Given the description of an element on the screen output the (x, y) to click on. 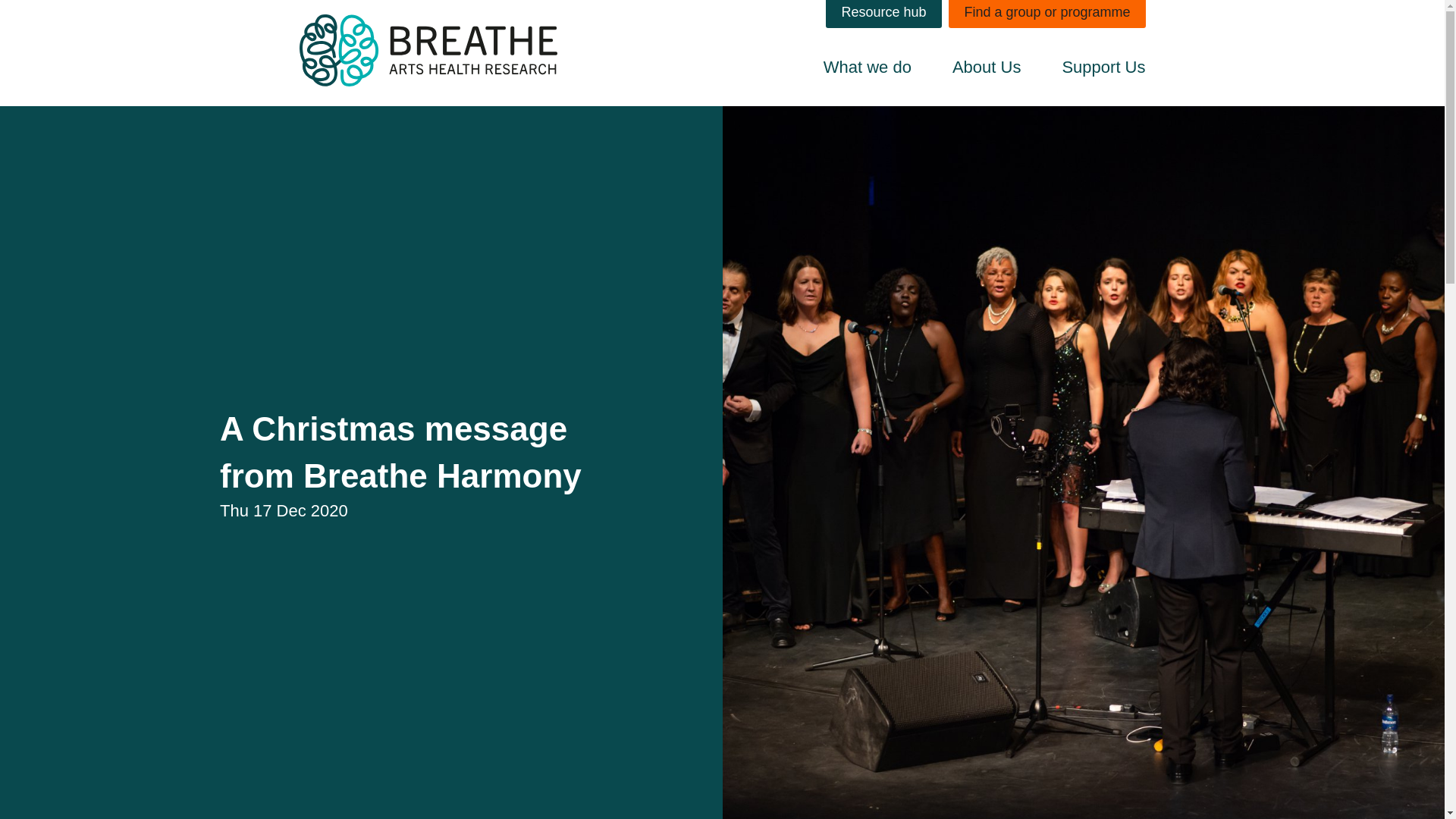
About Us (987, 71)
Resource hub (882, 13)
Find a group or programme (1046, 13)
What we do (867, 71)
